Given the description of an element on the screen output the (x, y) to click on. 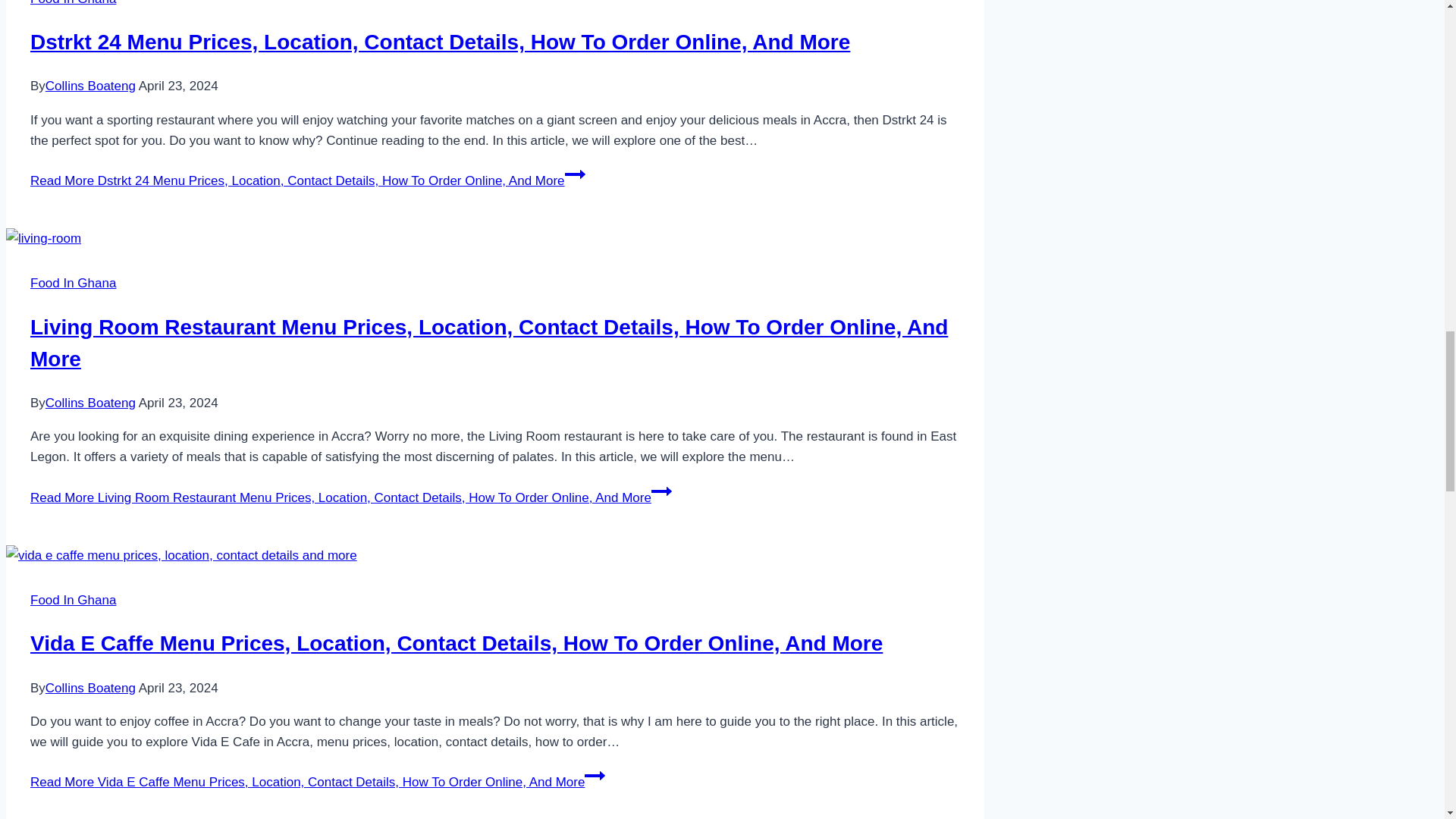
Continue (660, 491)
Continue (574, 174)
Continue (595, 775)
Food In Ghana (73, 283)
Collins Boateng (90, 85)
Food In Ghana (73, 2)
